Given the description of an element on the screen output the (x, y) to click on. 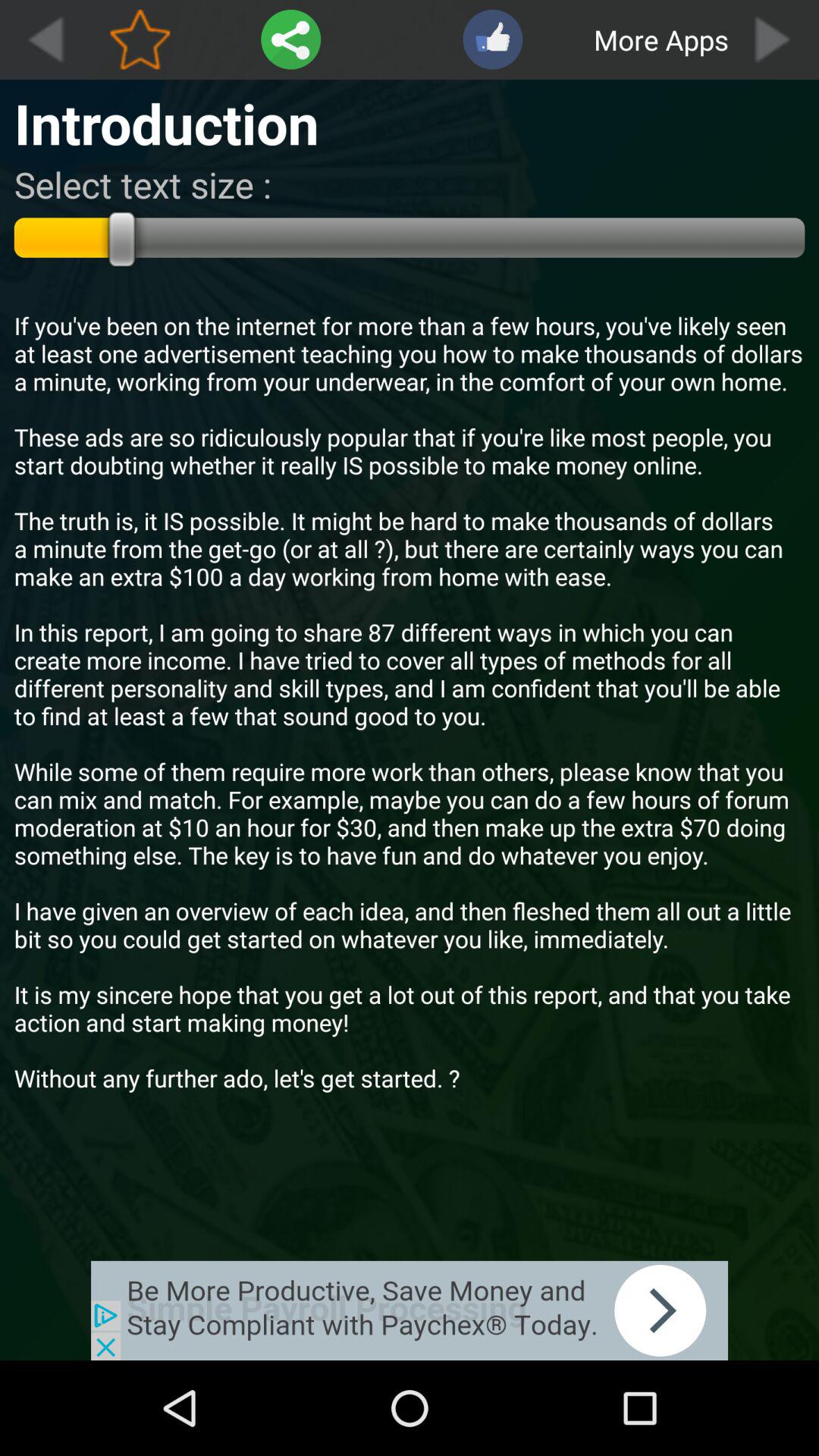
go back (45, 39)
